Given the description of an element on the screen output the (x, y) to click on. 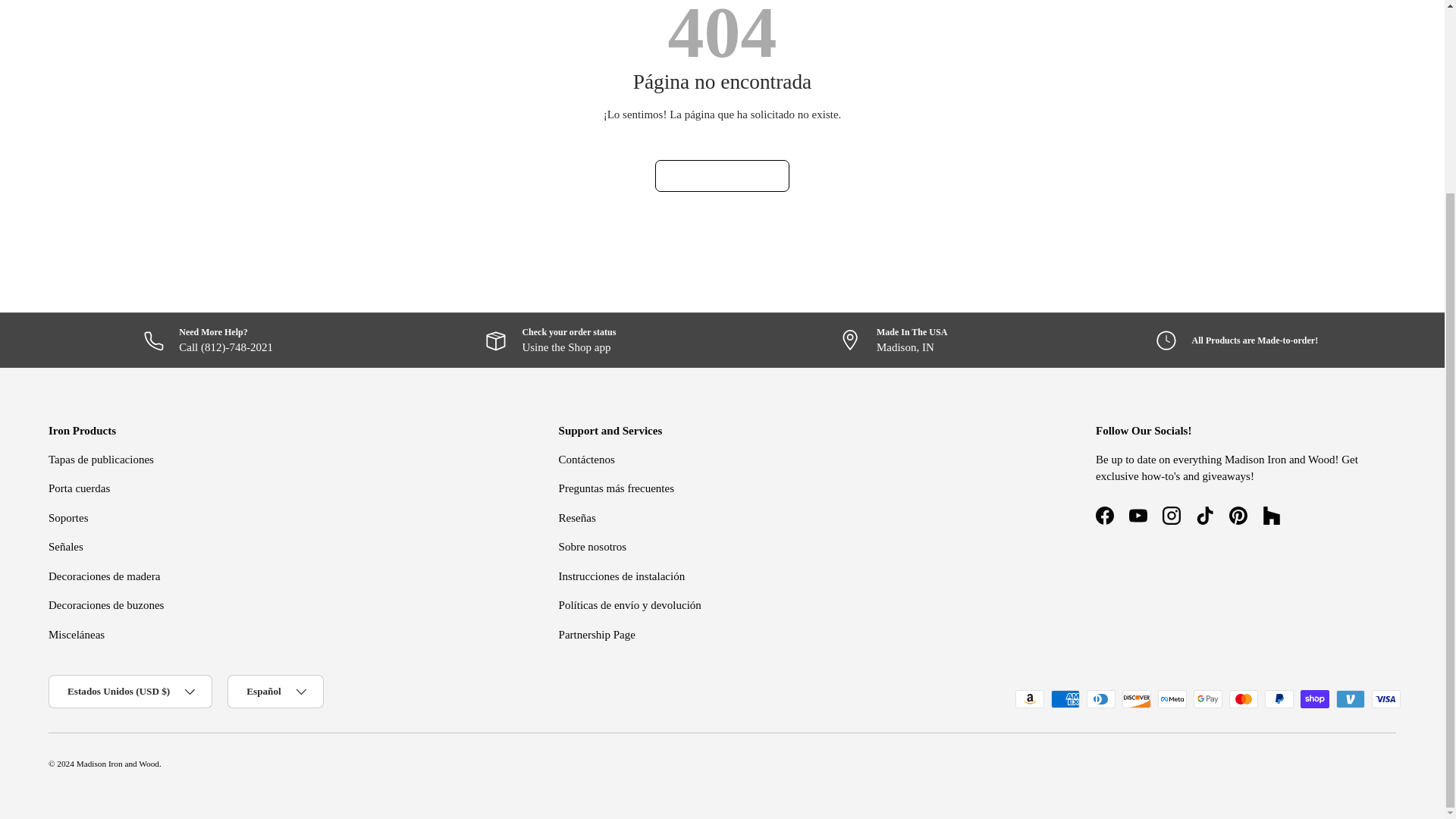
Madison Iron and Wood en Instagram (1171, 515)
Madison Iron and Wood en Pinterest (1238, 515)
Madison Iron and Wood en TikTok (1204, 515)
Madison Iron and Wood en Facebook (1104, 515)
Madison Iron and Wood en YouTube (1137, 515)
